Given the description of an element on the screen output the (x, y) to click on. 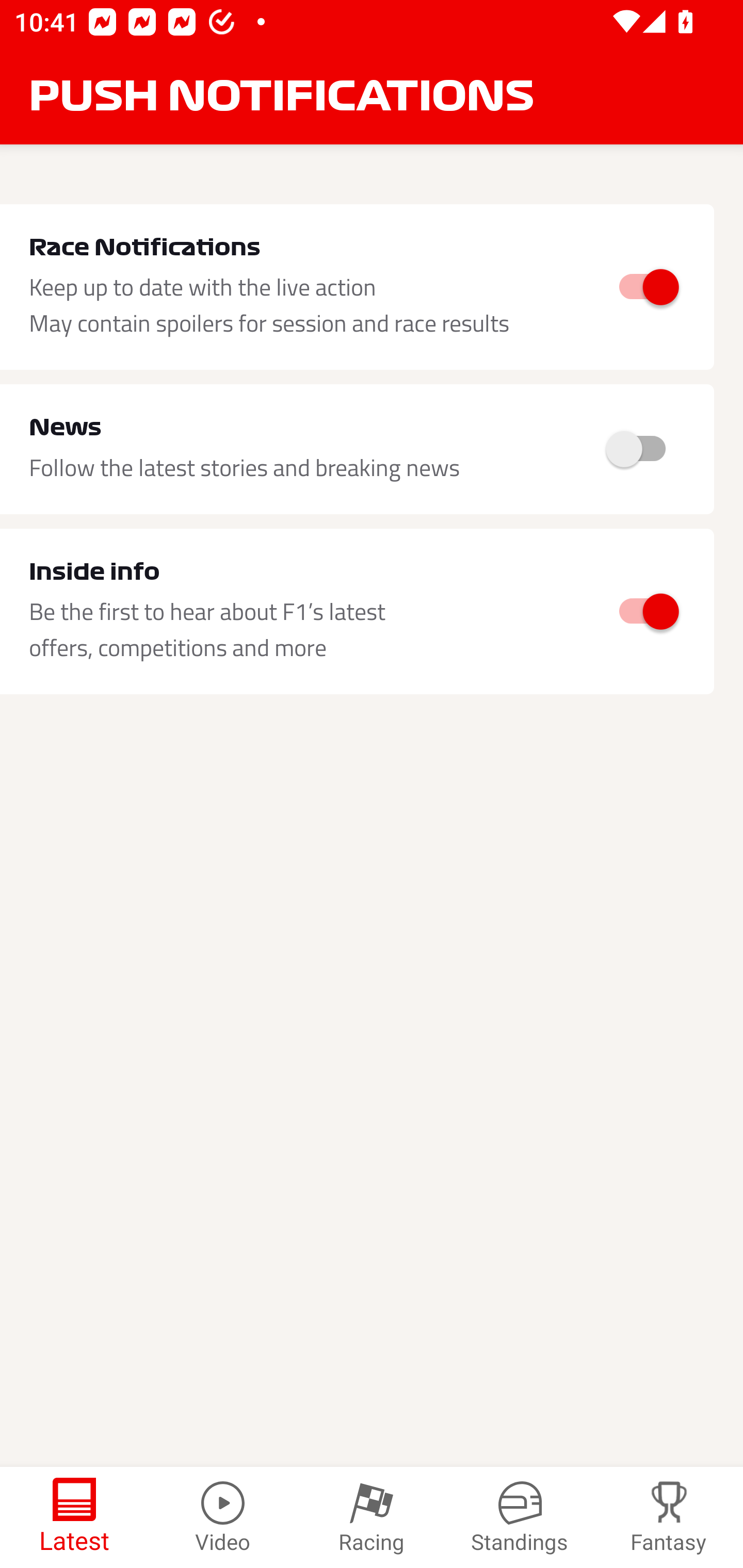
Video (222, 1517)
Racing (371, 1517)
Standings (519, 1517)
Fantasy (668, 1517)
